Given the description of an element on the screen output the (x, y) to click on. 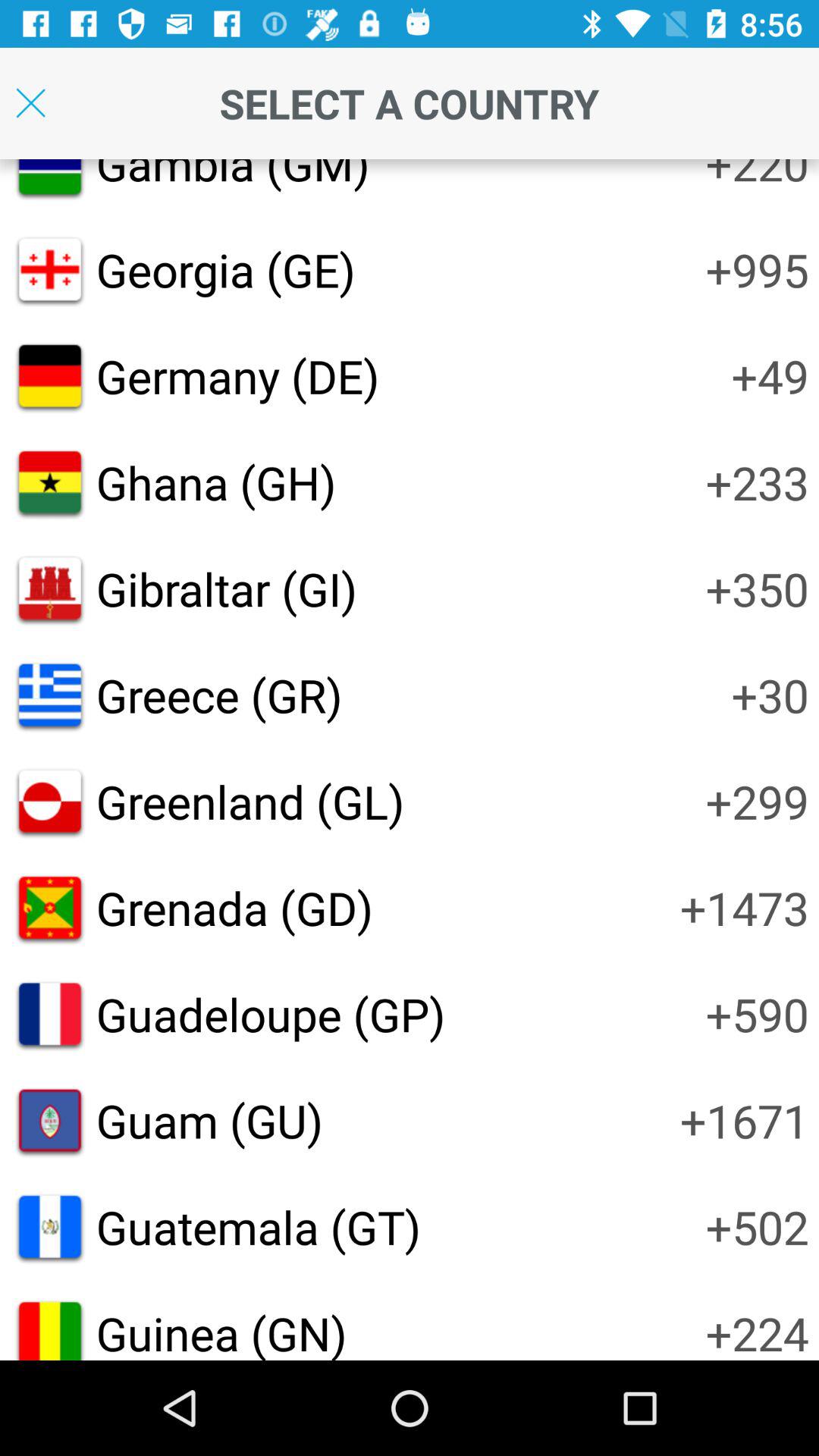
close setting (30, 103)
